Given the description of an element on the screen output the (x, y) to click on. 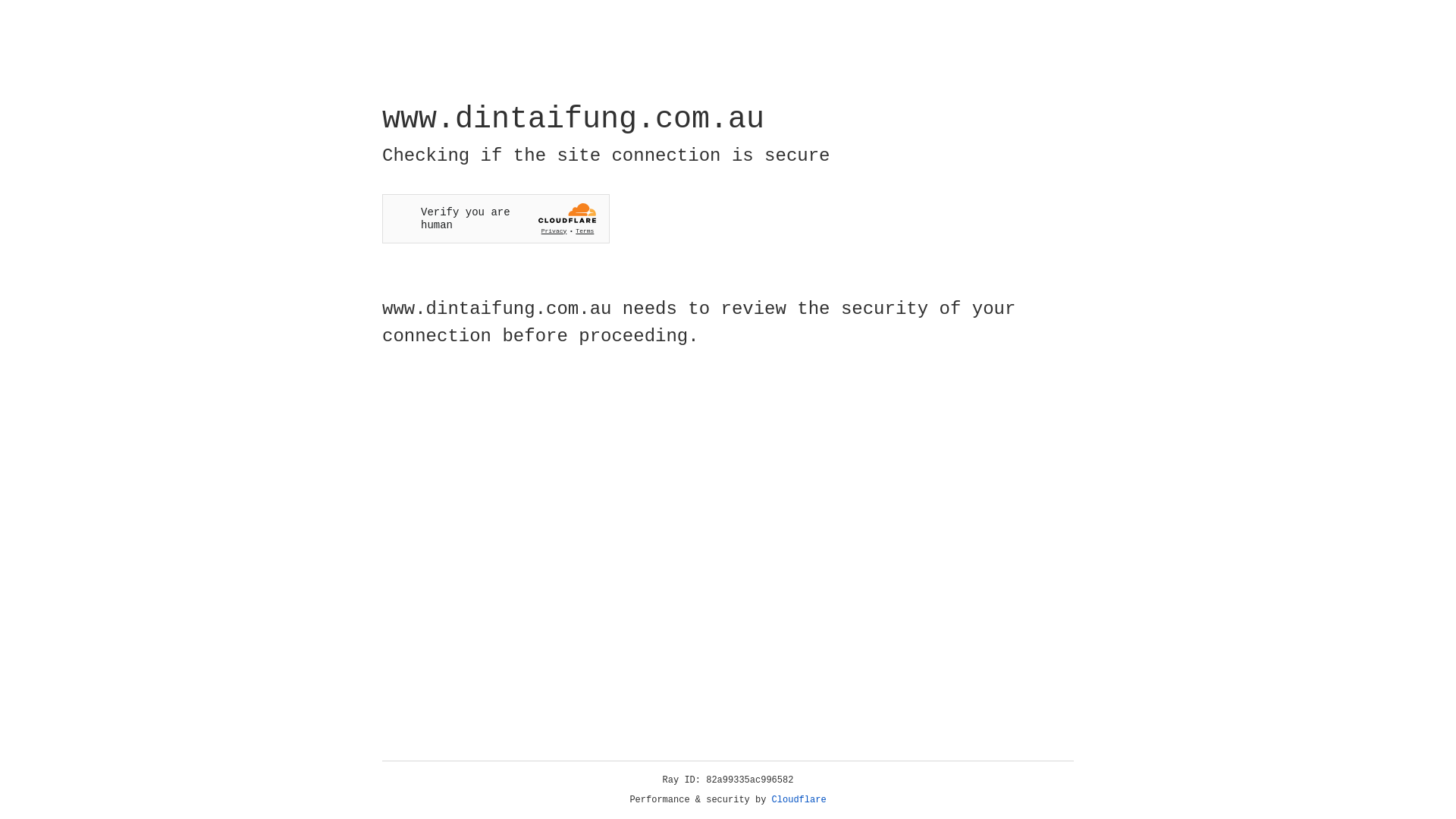
Widget containing a Cloudflare security challenge Element type: hover (495, 218)
Cloudflare Element type: text (798, 799)
